Given the description of an element on the screen output the (x, y) to click on. 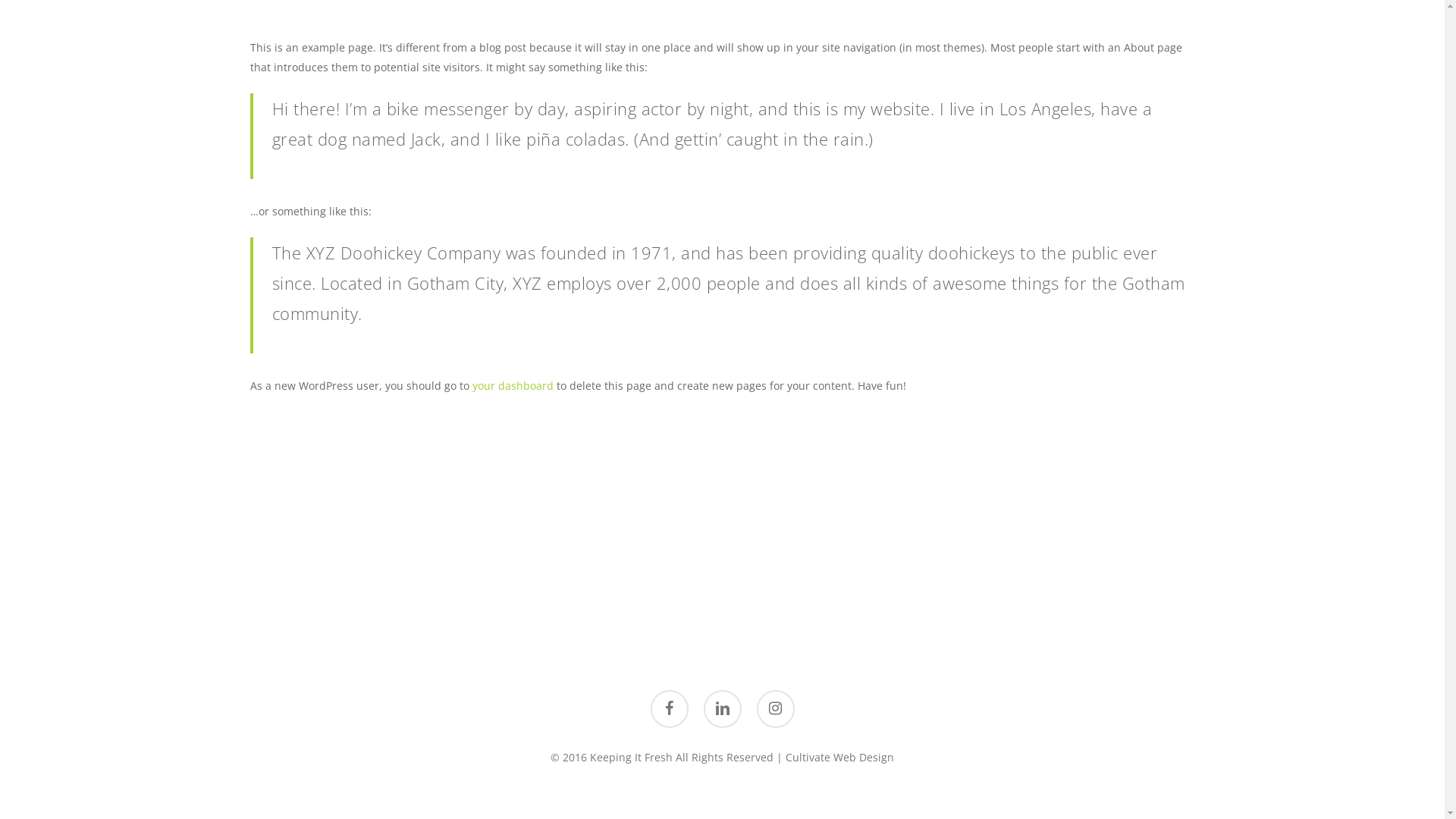
facebook Element type: text (669, 709)
your dashboard Element type: text (512, 385)
Cultivate Web Design Element type: text (839, 756)
instagram Element type: text (775, 709)
linkedin Element type: text (722, 709)
